Given the description of an element on the screen output the (x, y) to click on. 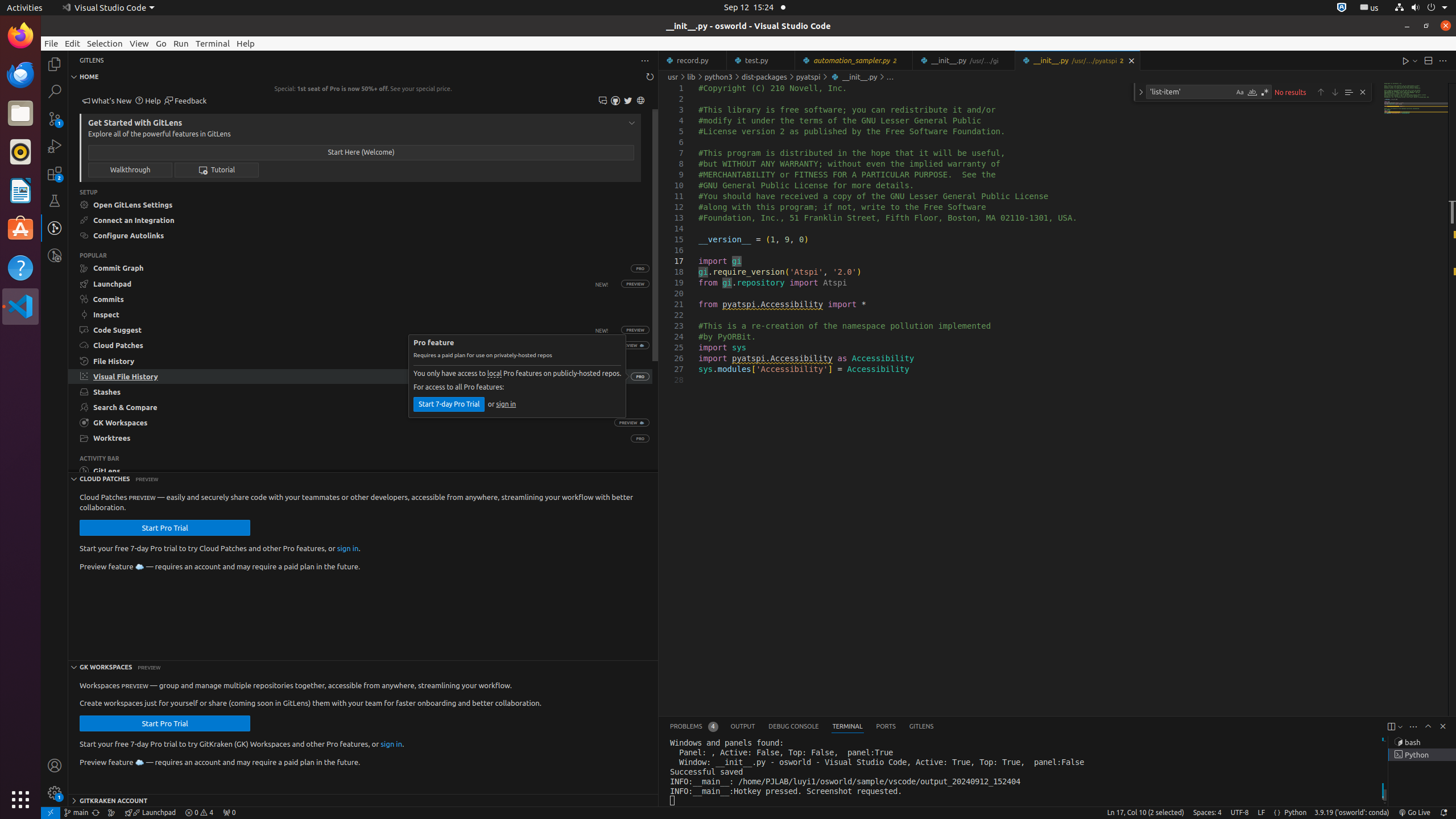
@gitlens on Twitter Element type: link (627, 100)
Selection Element type: push-button (104, 43)
No Ports Forwarded Element type: push-button (228, 812)
Show Stashes view Element type: link (359, 391)
Match Whole Word (Alt+W) Element type: check-box (1252, 91)
